Given the description of an element on the screen output the (x, y) to click on. 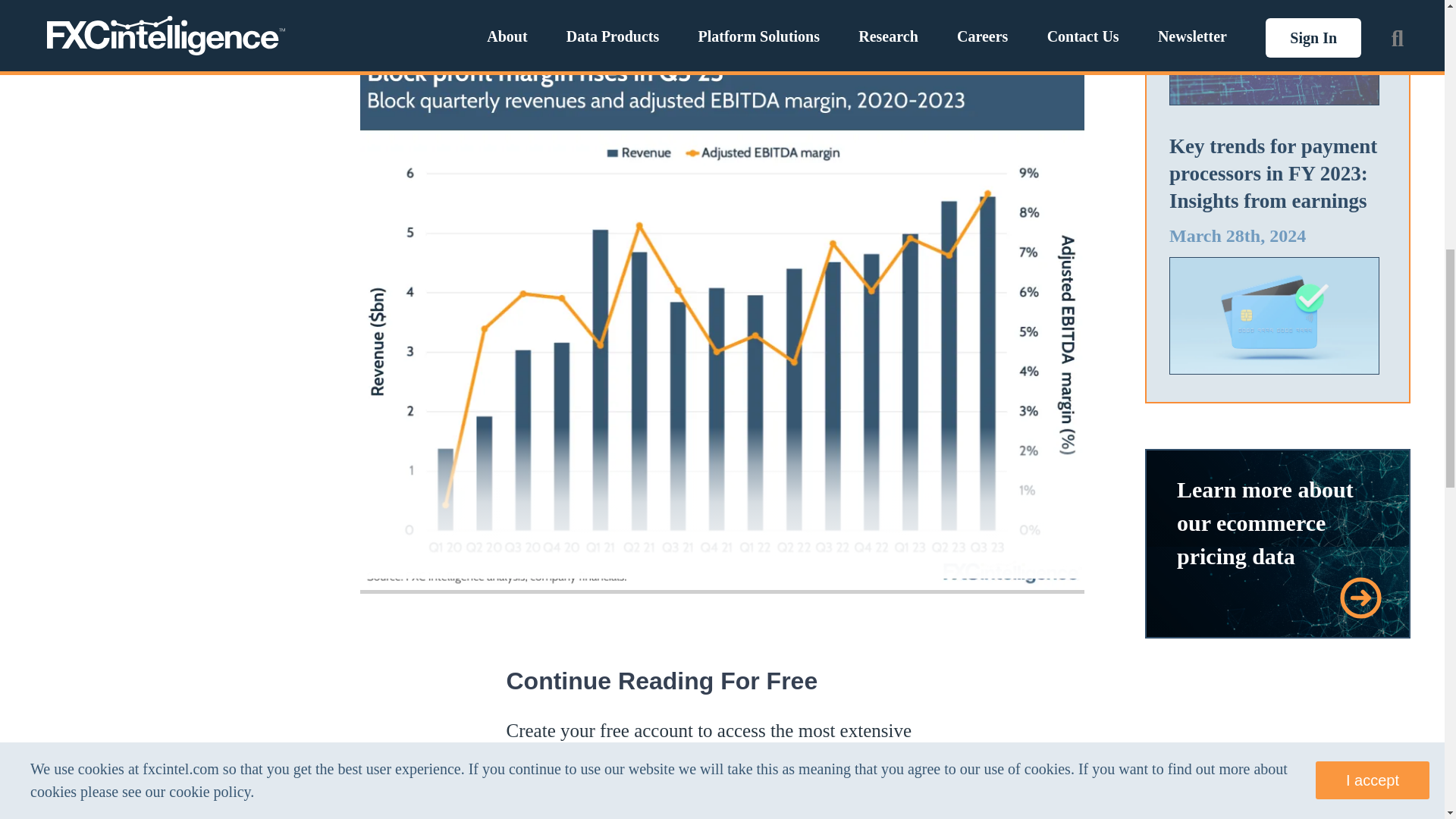
Learn more about our ecommerce pricing data (1265, 522)
